Given the description of an element on the screen output the (x, y) to click on. 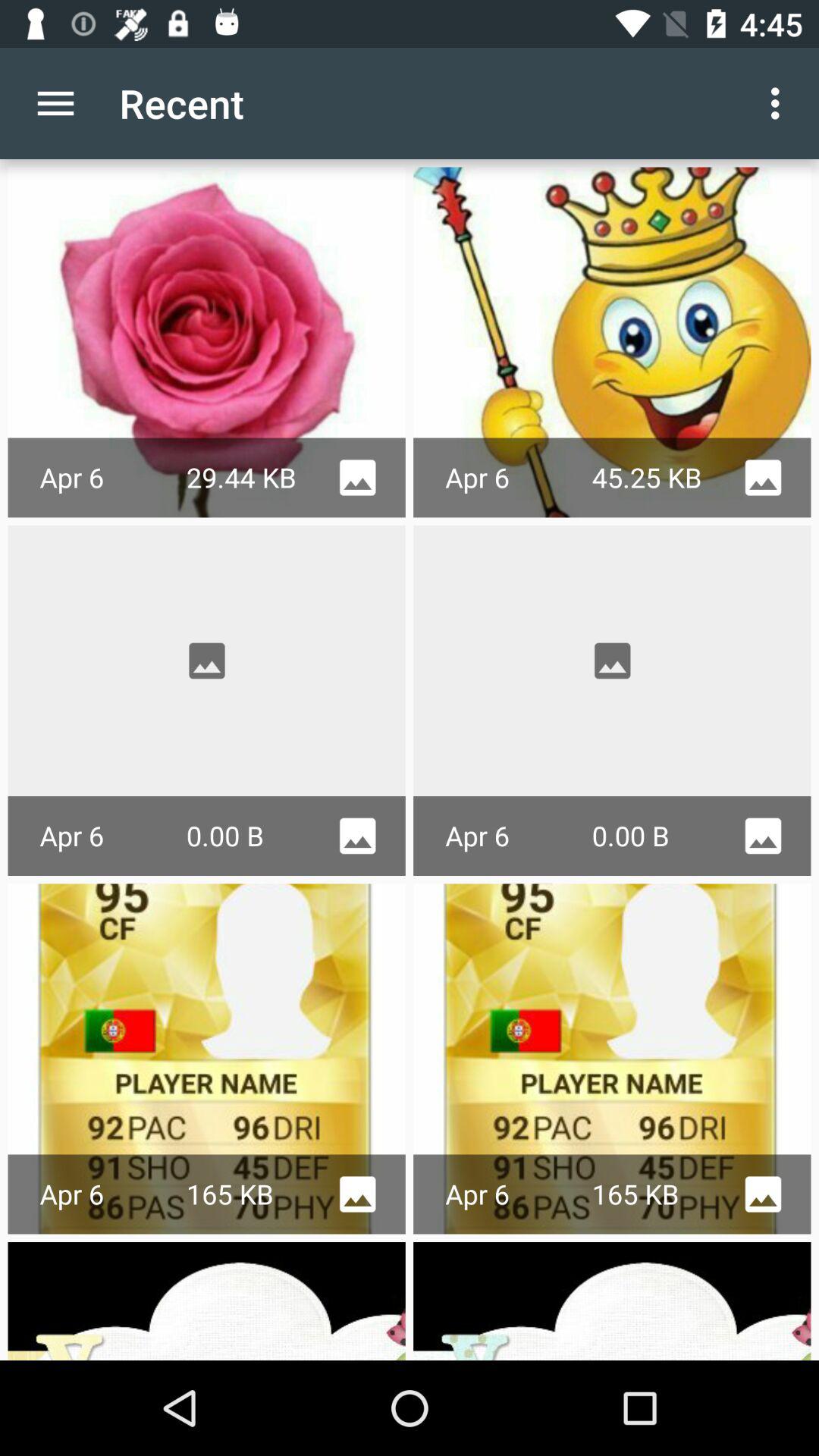
open item next to the recent app (55, 103)
